Given the description of an element on the screen output the (x, y) to click on. 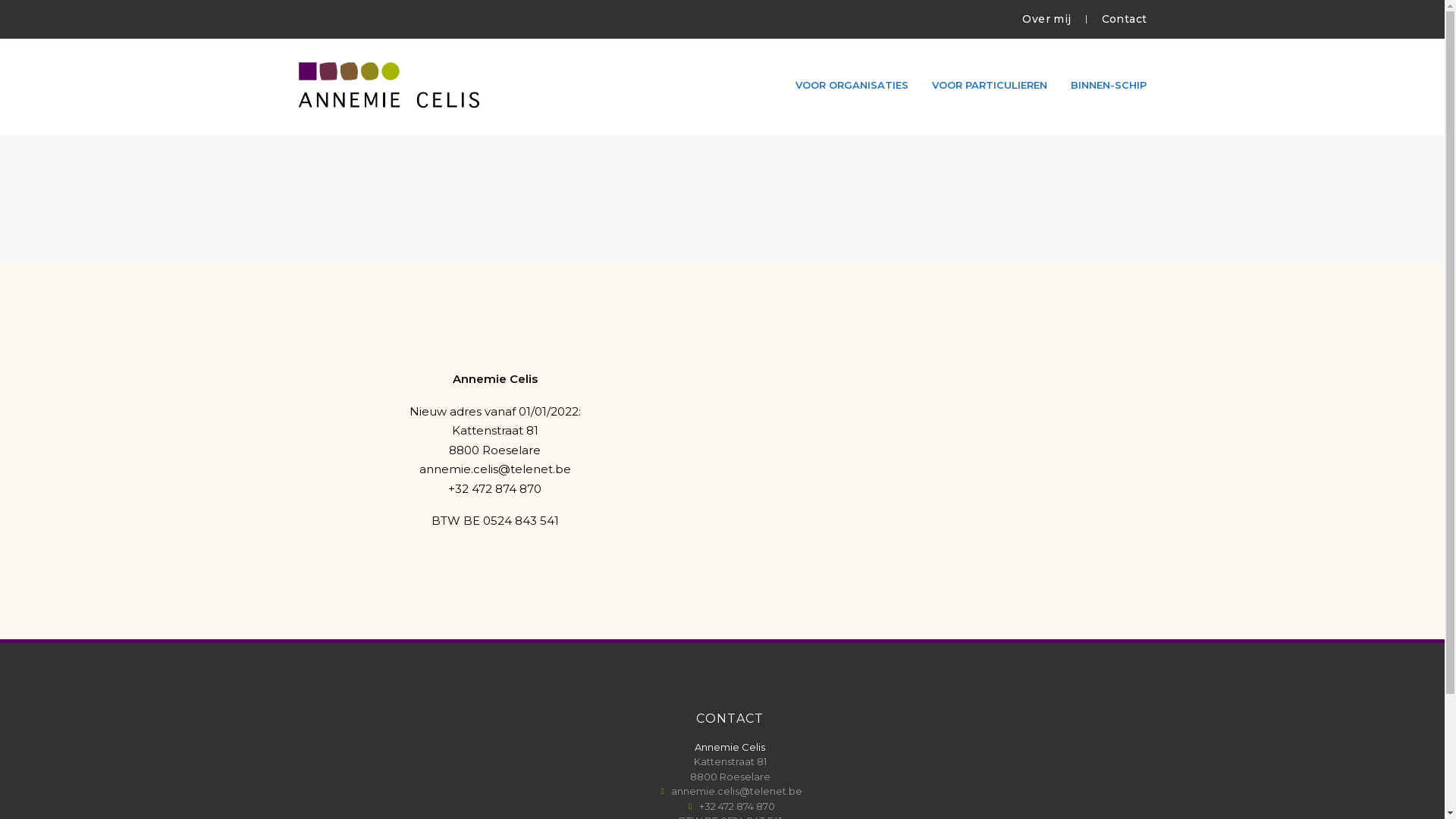
BINNEN-SCHIP Element type: text (1108, 84)
Over mij Element type: text (1046, 19)
Contact Element type: text (1124, 19)
annemie.celis@telenet.be Element type: text (729, 791)
annemie.celis@telenet.be Element type: text (494, 469)
+32 472 874 870 Element type: text (729, 806)
VOOR PARTICULIEREN Element type: text (989, 84)
VOOR ORGANISATIES Element type: text (851, 84)
+32 472 874 870 Element type: text (494, 489)
